Given the description of an element on the screen output the (x, y) to click on. 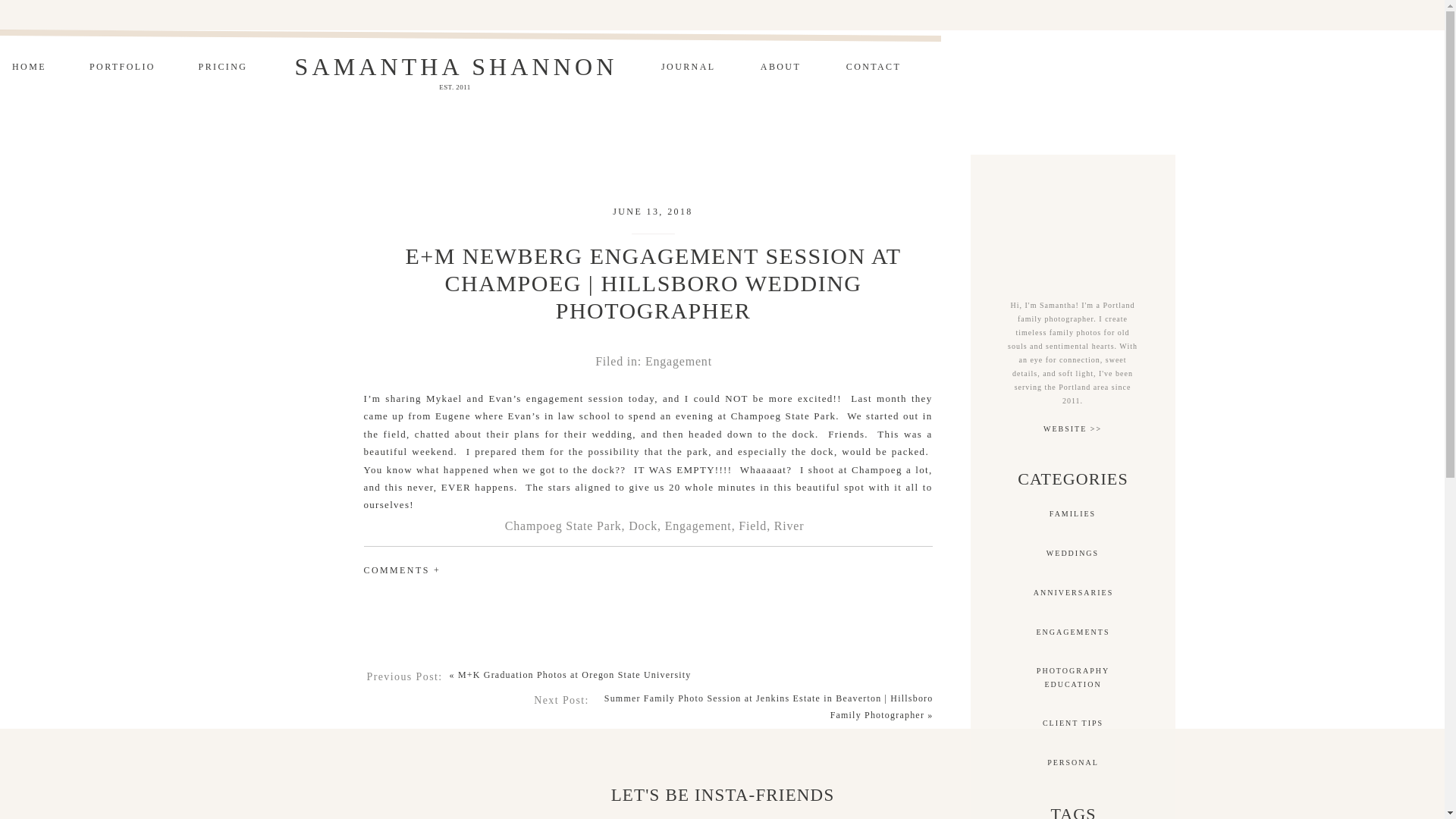
FAMILIES (1072, 677)
ABOUT (1072, 513)
CONTACT (781, 67)
JOURNAL (873, 67)
HOME (687, 67)
PRICING (29, 67)
ENGAGEMENTS (222, 67)
Engagement (1072, 631)
ANNIVERSARIES (678, 360)
